Given the description of an element on the screen output the (x, y) to click on. 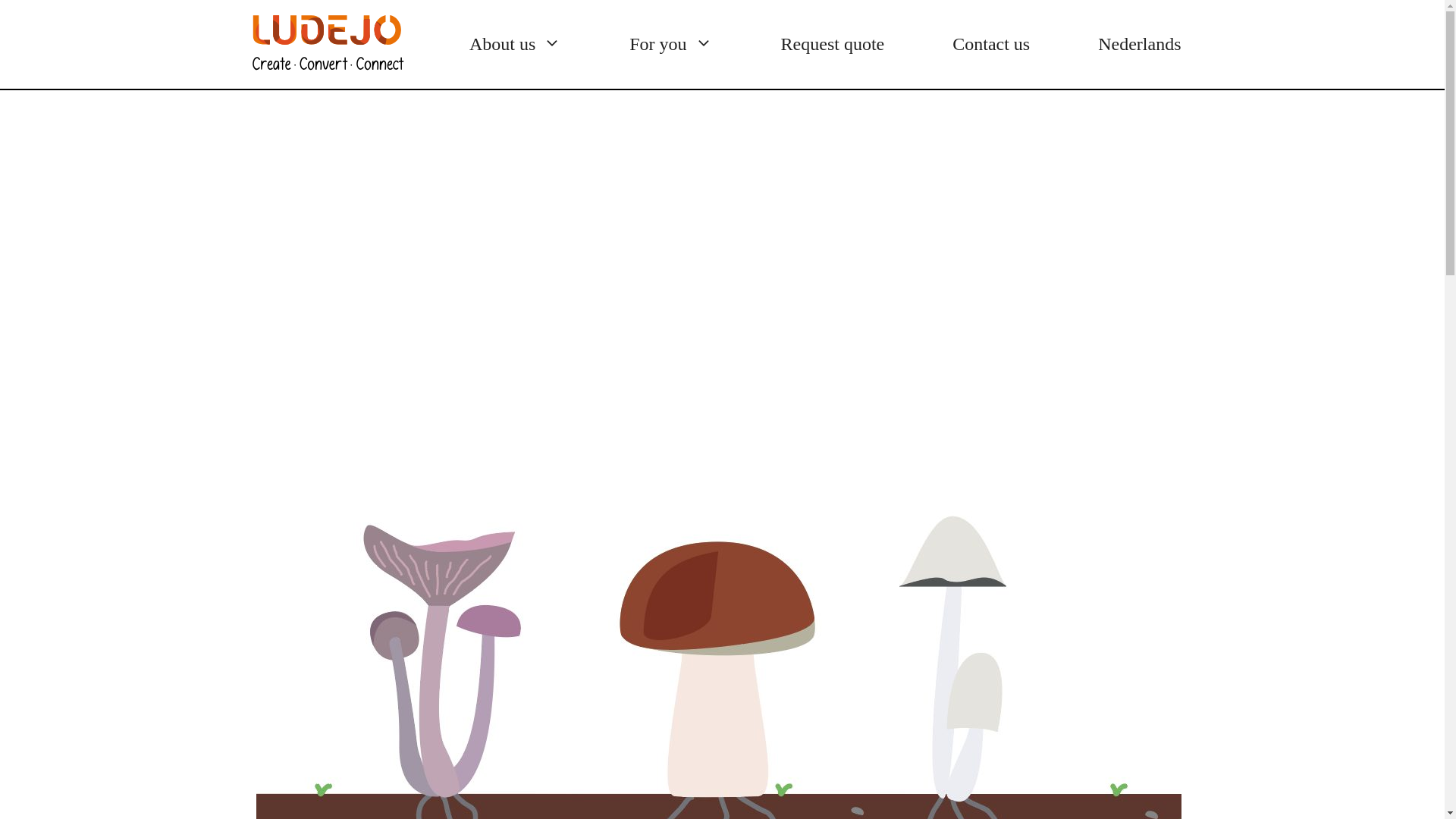
Contact us (990, 43)
About us (515, 43)
Nederlands (1139, 43)
Request quote (833, 43)
For you (670, 43)
